Given the description of an element on the screen output the (x, y) to click on. 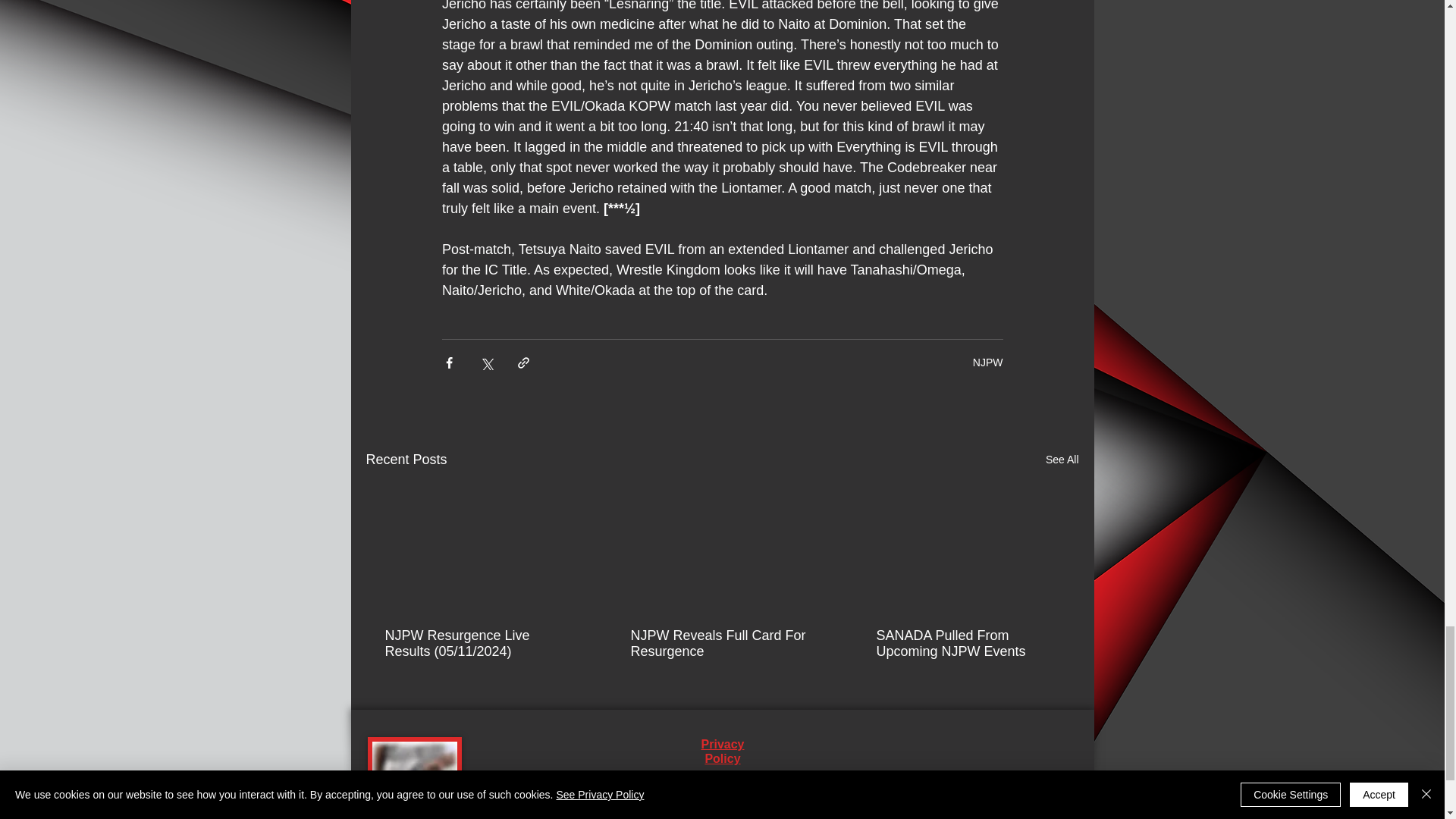
NJPW Reveals Full Card For Resurgence (721, 644)
Privacy Policy (722, 750)
NJPW (987, 362)
Subscribe (1045, 817)
See All (1061, 459)
SANADA Pulled From Upcoming NJPW Events (967, 644)
